Given the description of an element on the screen output the (x, y) to click on. 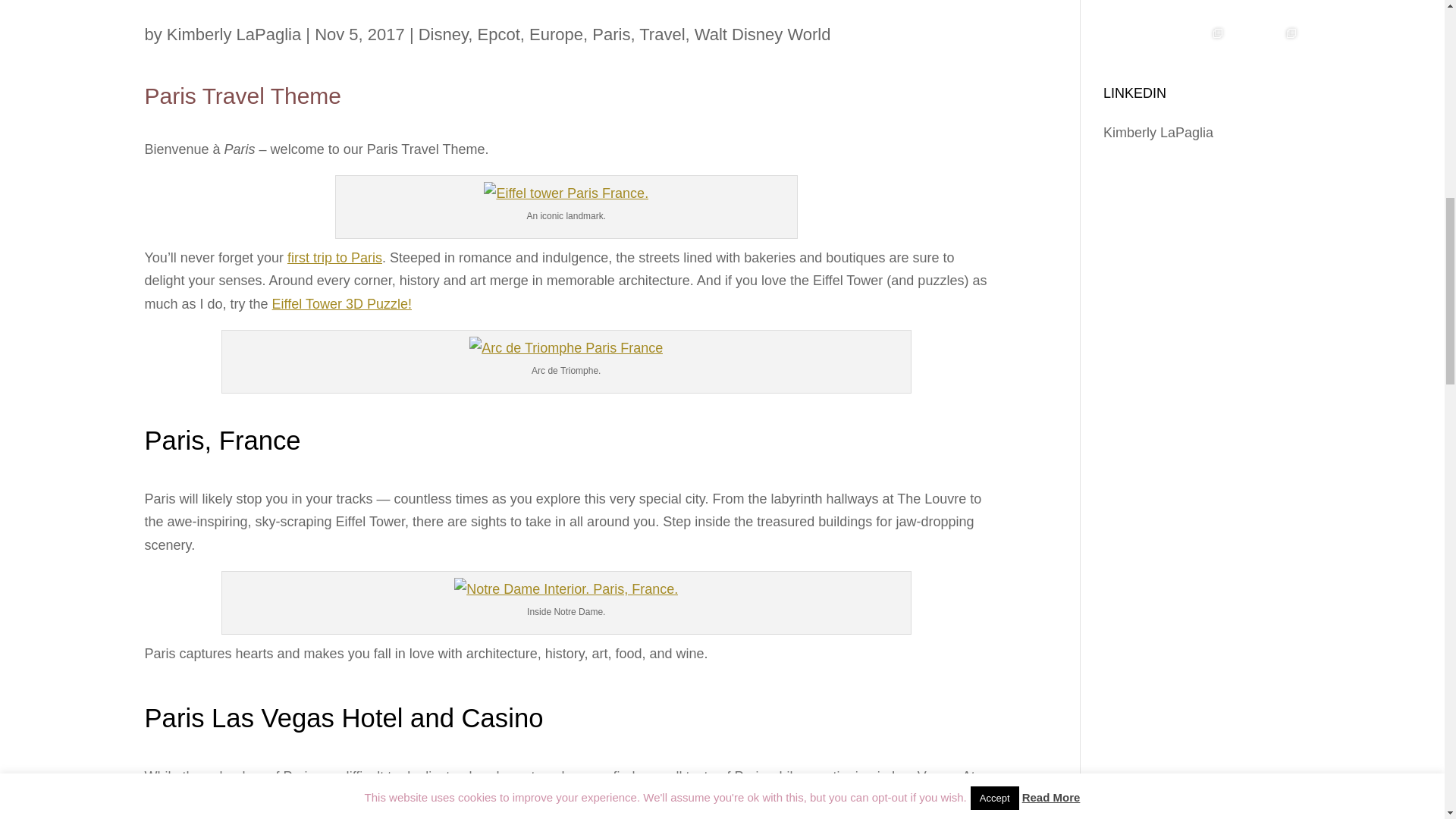
Walt Disney World (762, 33)
Epcot (498, 33)
first trip to Paris (333, 257)
Europe (556, 33)
Kimberly LaPaglia (234, 33)
Posts by Kimberly LaPaglia (234, 33)
Eiffel Tower 3D Puzzle! (342, 304)
Disney (443, 33)
Travel (661, 33)
Paris (611, 33)
